Given the description of an element on the screen output the (x, y) to click on. 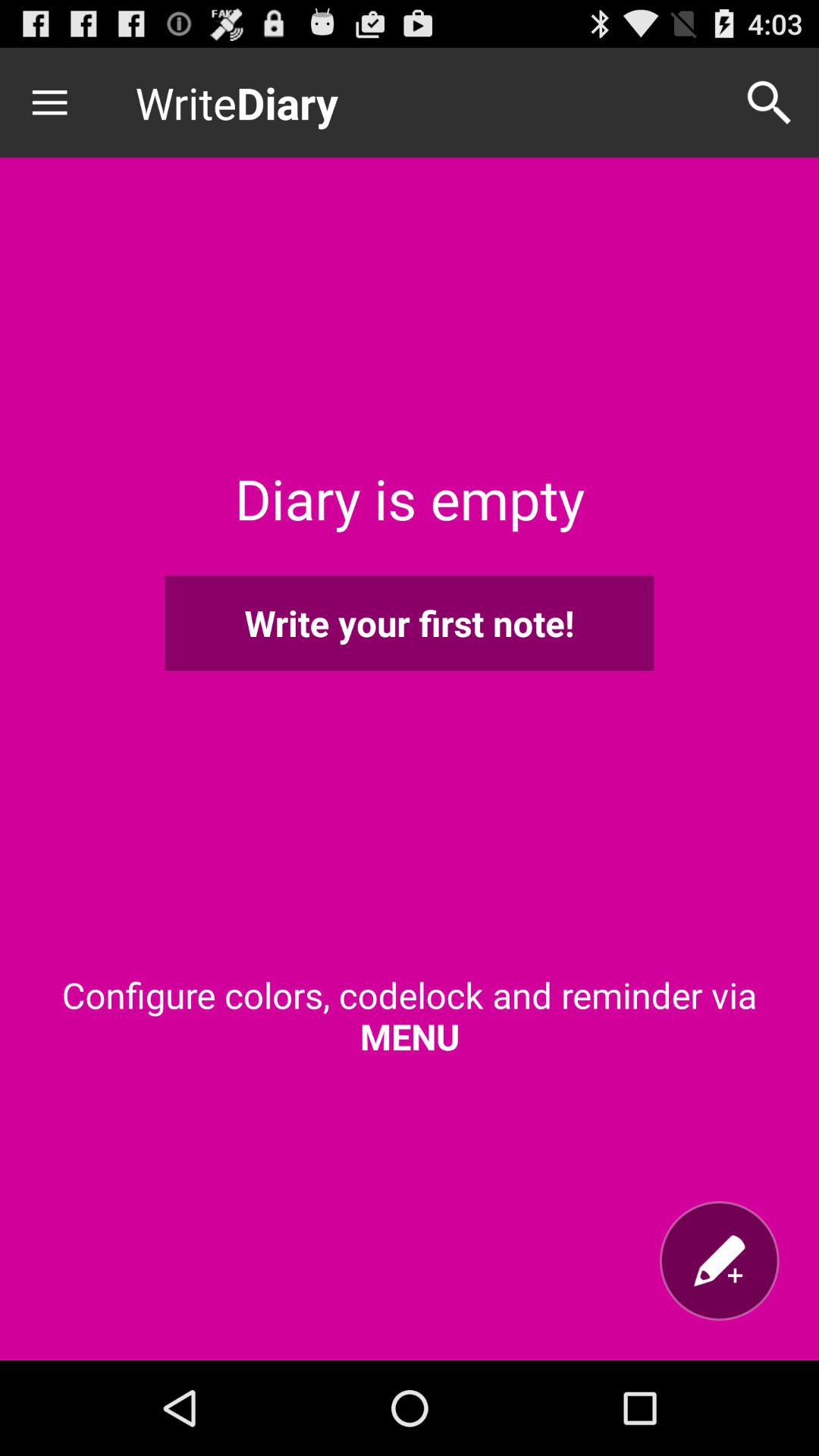
tap icon at the bottom right corner (719, 1260)
